Given the description of an element on the screen output the (x, y) to click on. 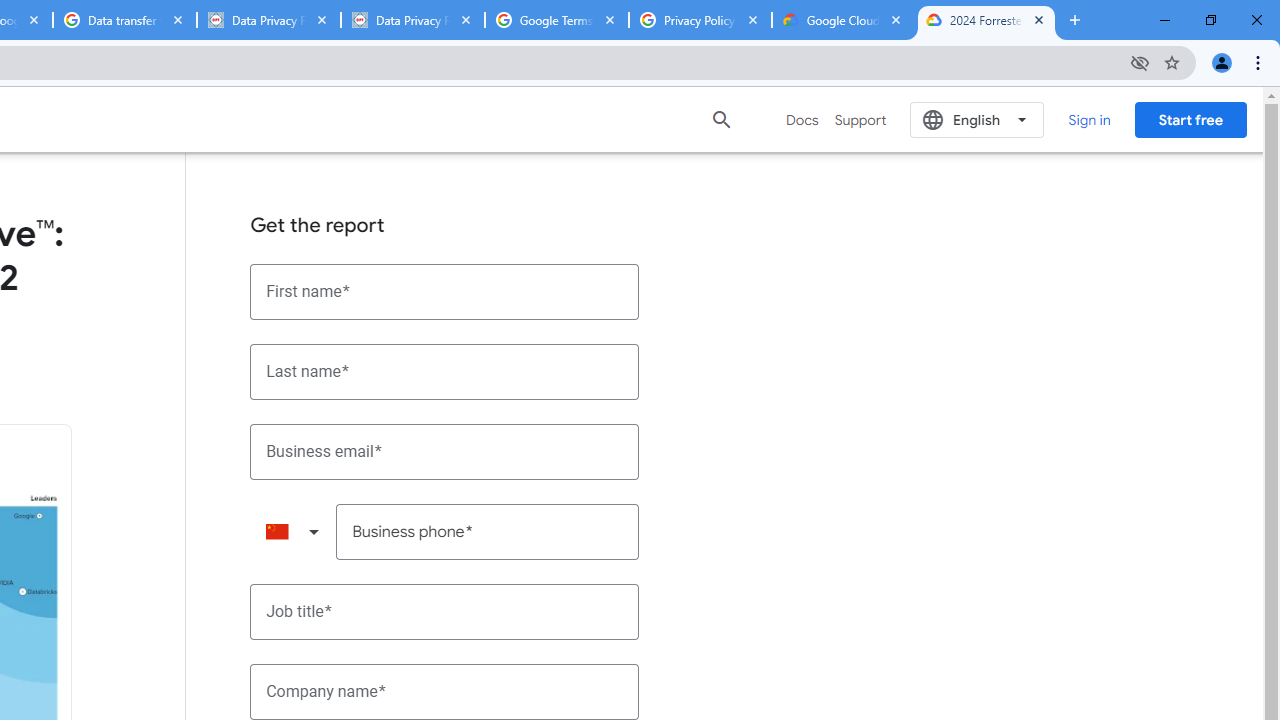
Docs (802, 119)
Job title* (445, 611)
Calling Code (+86) (292, 531)
Company name* (445, 691)
Business email* (445, 451)
Last name* (445, 371)
First name* (445, 291)
